Given the description of an element on the screen output the (x, y) to click on. 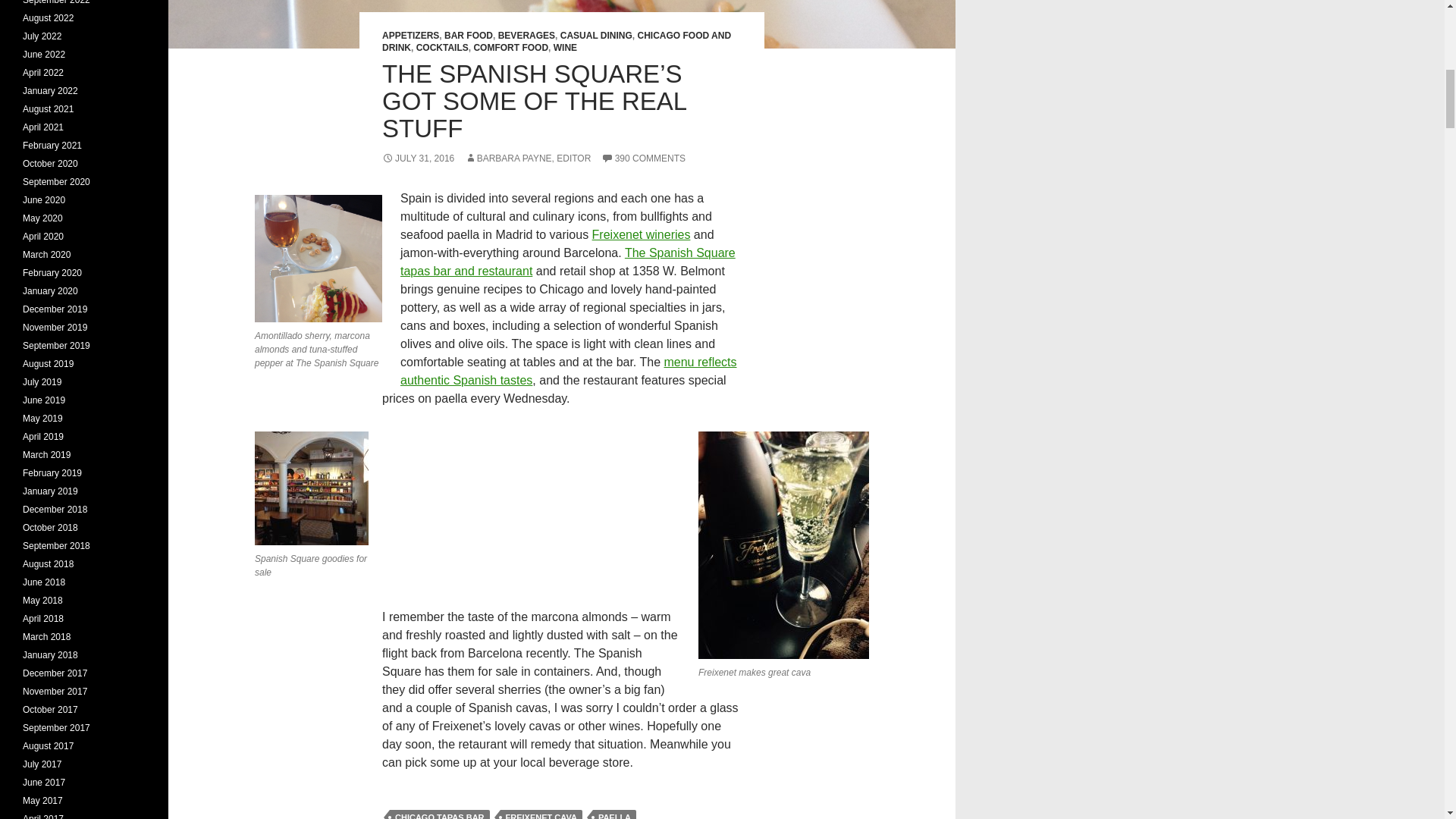
CHICAGO FOOD AND DRINK (555, 41)
BAR FOOD (468, 35)
CHICAGO TAPAS BAR (439, 814)
JULY 31, 2016 (417, 158)
menu reflects authentic Spanish tastes (568, 370)
PAELLA (614, 814)
BEVERAGES (525, 35)
COMFORT FOOD (510, 47)
WINE (564, 47)
The Spanish Square tapas bar and restaurant (567, 261)
CASUAL DINING (595, 35)
FREIXENET CAVA (541, 814)
390 COMMENTS (643, 158)
BARBARA PAYNE, EDITOR (527, 158)
APPETIZERS (410, 35)
